Given the description of an element on the screen output the (x, y) to click on. 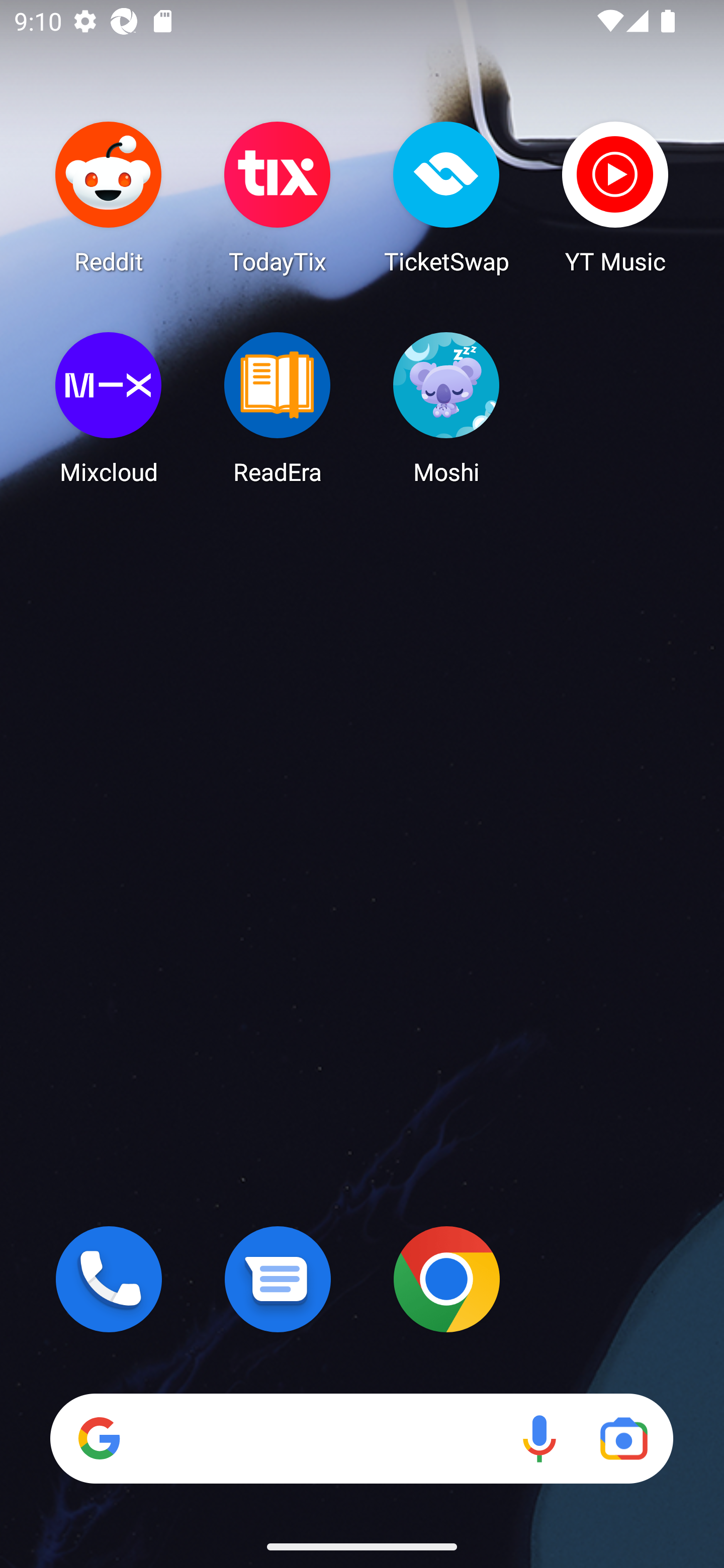
Reddit (108, 196)
TodayTix (277, 196)
TicketSwap (445, 196)
YT Music (615, 196)
Mixcloud (108, 407)
ReadEra (277, 407)
Moshi (445, 407)
Phone (108, 1279)
Messages (277, 1279)
Chrome (446, 1279)
Search Voice search Google Lens (361, 1438)
Voice search (539, 1438)
Google Lens (623, 1438)
